Given the description of an element on the screen output the (x, y) to click on. 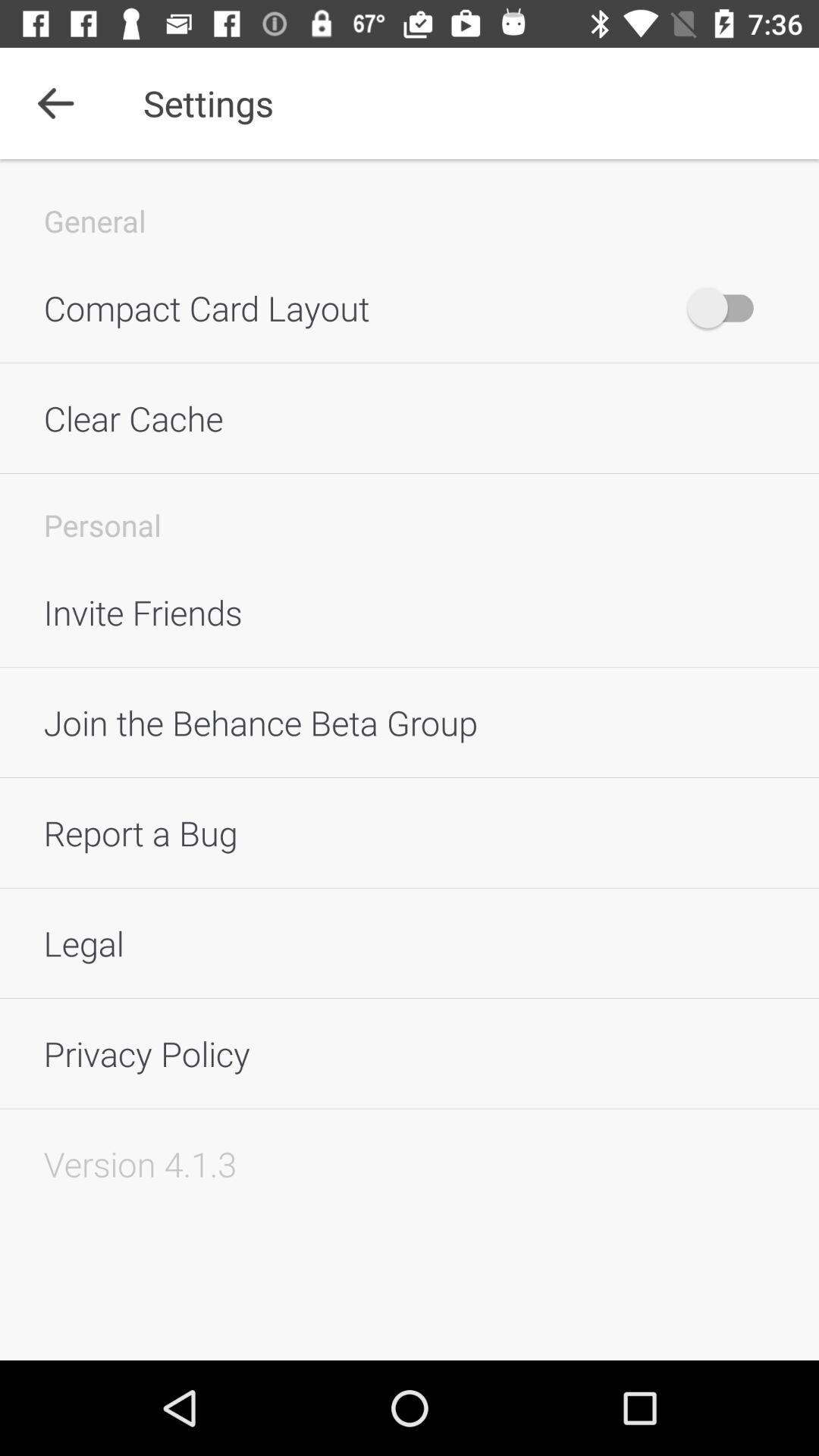
launch the icon below the invite friends (409, 722)
